Given the description of an element on the screen output the (x, y) to click on. 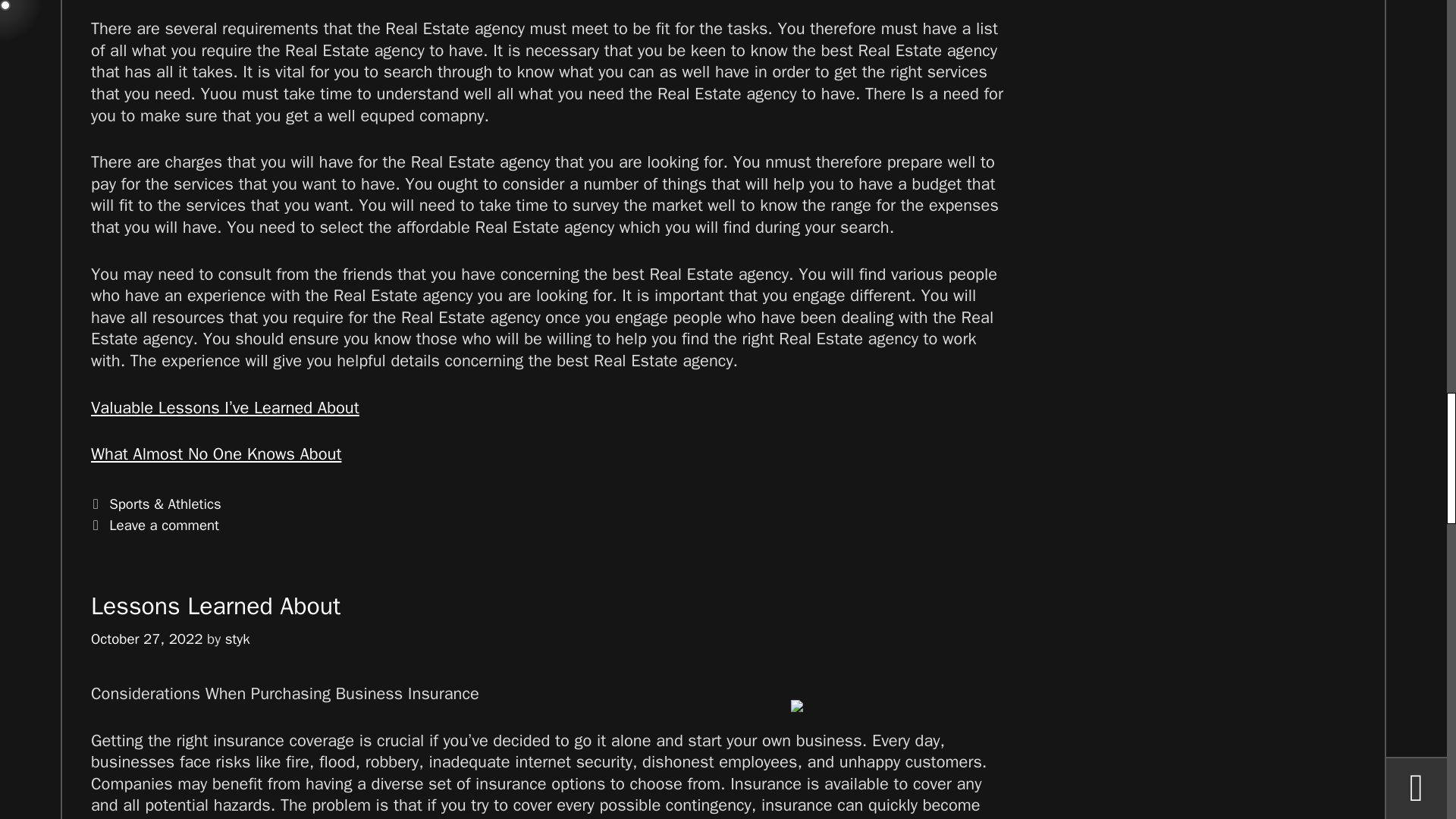
What Almost No One Knows About (215, 454)
Leave a comment (164, 525)
4:24 am (146, 638)
styk (237, 638)
Lessons Learned About (215, 605)
View all posts by styk (237, 638)
October 27, 2022 (146, 638)
